Given the description of an element on the screen output the (x, y) to click on. 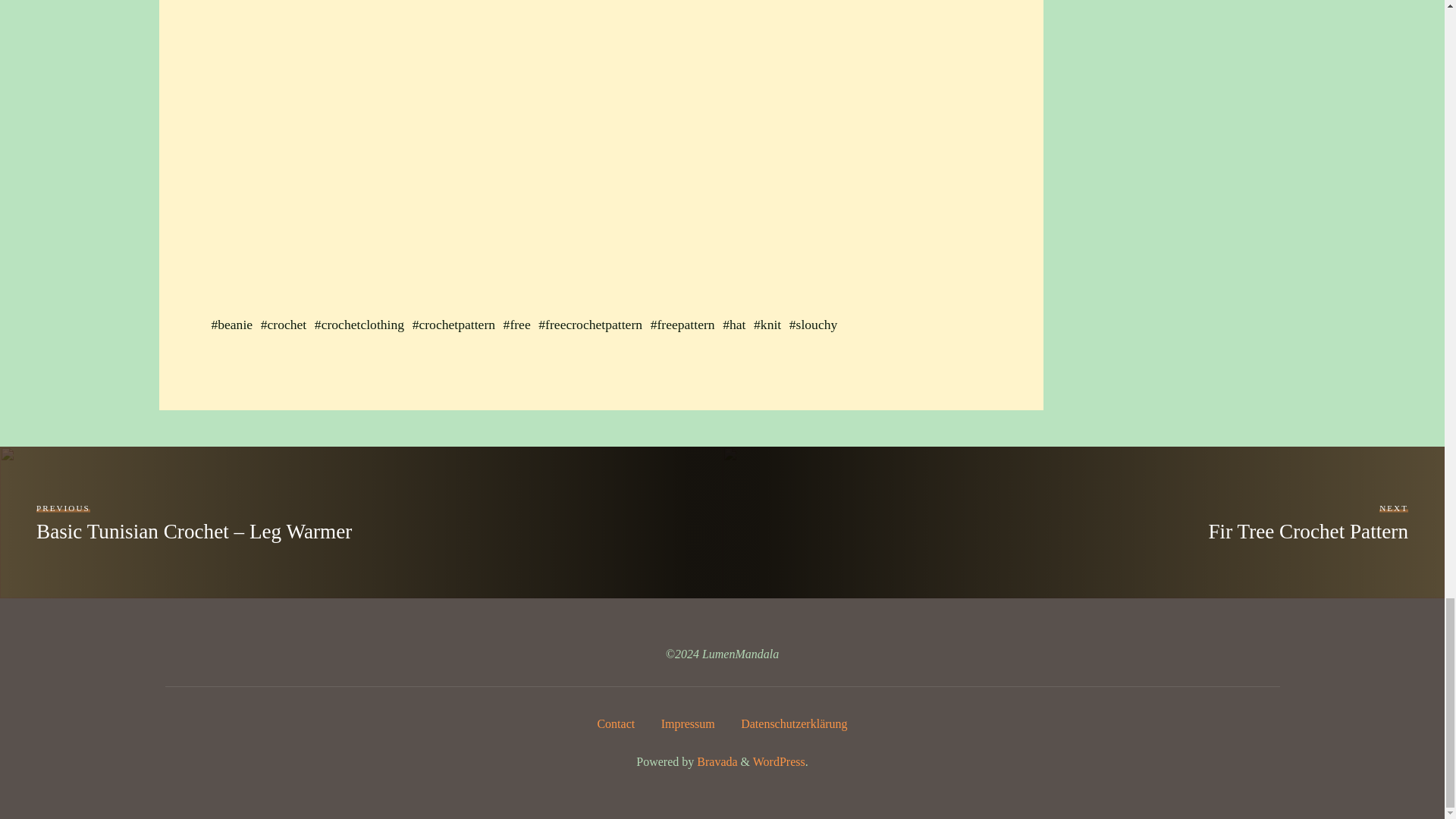
knit (770, 324)
freecrochetpattern (593, 324)
Semantic Personal Publishing Platform (778, 761)
free (519, 324)
slouchy (815, 324)
crochetclothing (361, 324)
freepattern (685, 324)
Bravada WordPress Theme by Cryout Creations (715, 761)
crochetpattern (457, 324)
hat (737, 324)
